Given the description of an element on the screen output the (x, y) to click on. 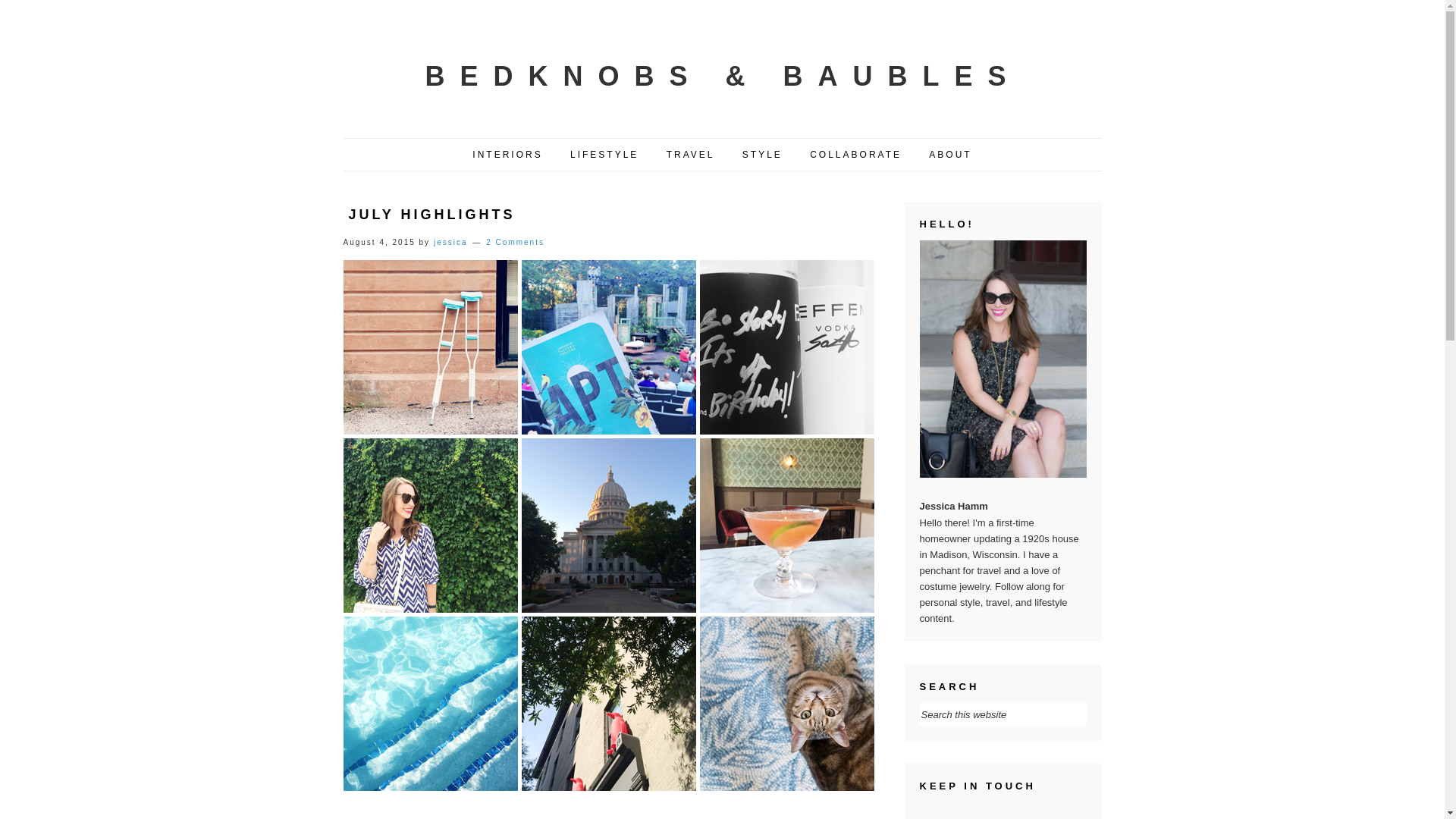
2 Comments (515, 242)
TRAVEL (690, 154)
COLLABORATE (854, 154)
JULY HIGHLIGHTS (432, 214)
INTERIORS (507, 154)
jessica (450, 242)
LIFESTYLE (604, 154)
STYLE (761, 154)
